Given the description of an element on the screen output the (x, y) to click on. 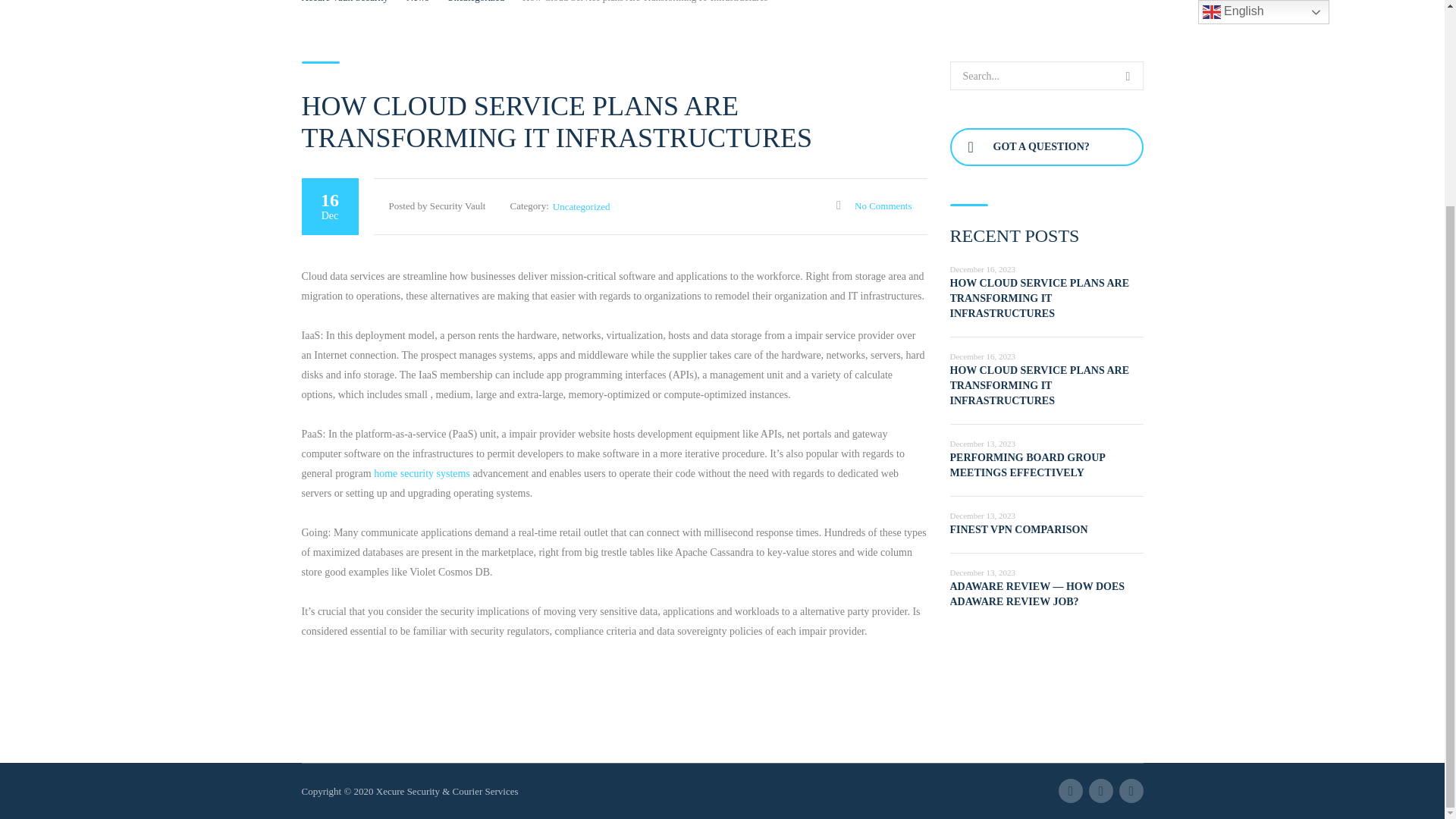
HOW CLOUD SERVICE PLANS ARE TRANSFORMING IT INFRASTRUCTURES (1039, 385)
Xecure Vault Security (344, 1)
HOW CLOUD SERVICE PLANS ARE TRANSFORMING IT INFRASTRUCTURES (1039, 298)
Uncategorized (474, 1)
Go to Xecure Vault Security. (344, 1)
Go to the Uncategorized Category archives. (474, 1)
FINEST VPN COMPARISON (1018, 529)
home security systems (422, 473)
PERFORMING BOARD GROUP MEETINGS EFFECTIVELY (1027, 465)
Uncategorized (581, 206)
News (417, 1)
Go to News. (417, 1)
GOT A QUESTION? (1045, 146)
No Comments (873, 205)
